Given the description of an element on the screen output the (x, y) to click on. 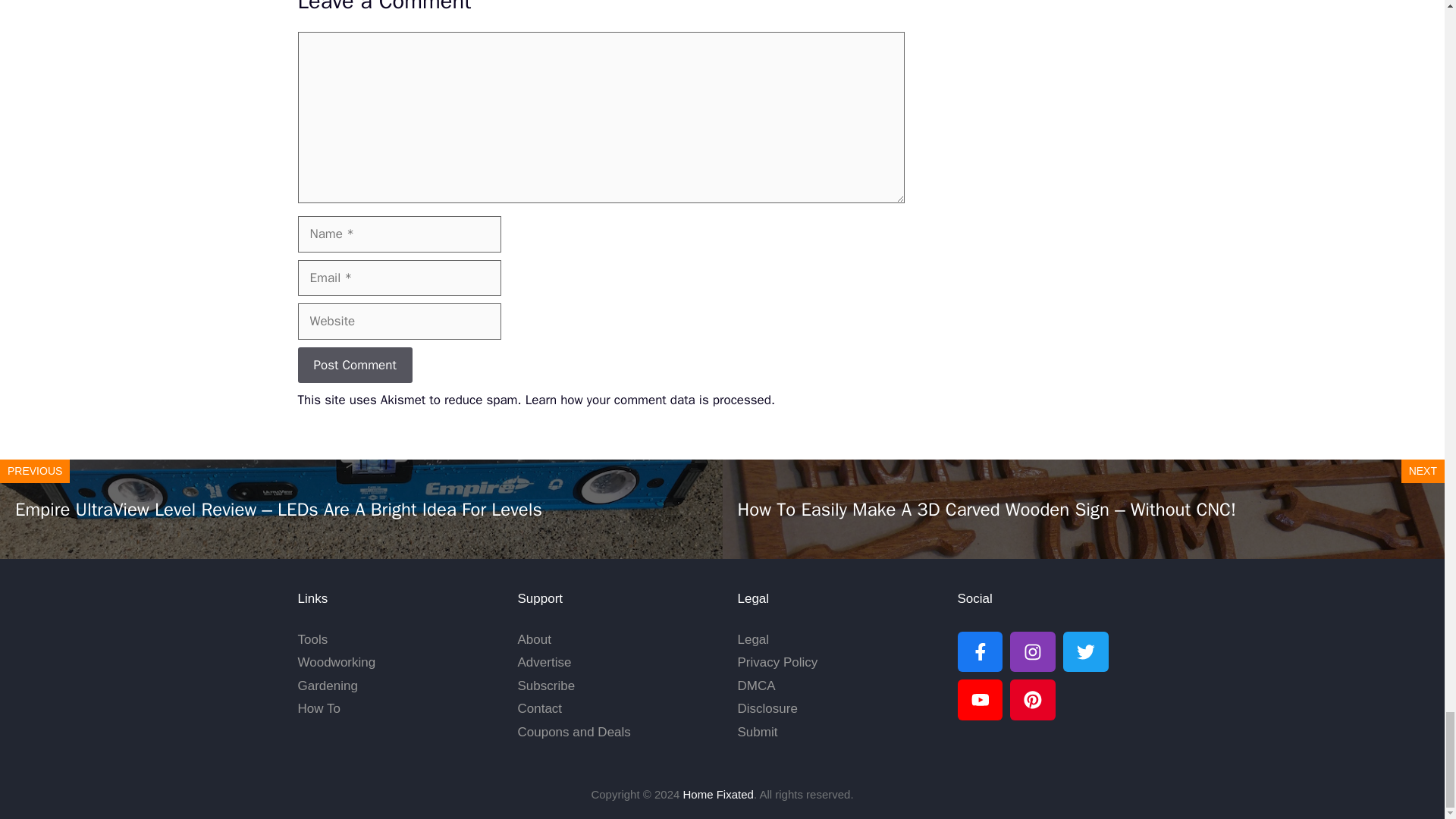
Learn how your comment data is processed (648, 399)
Post Comment (354, 365)
Post Comment (354, 365)
